Given the description of an element on the screen output the (x, y) to click on. 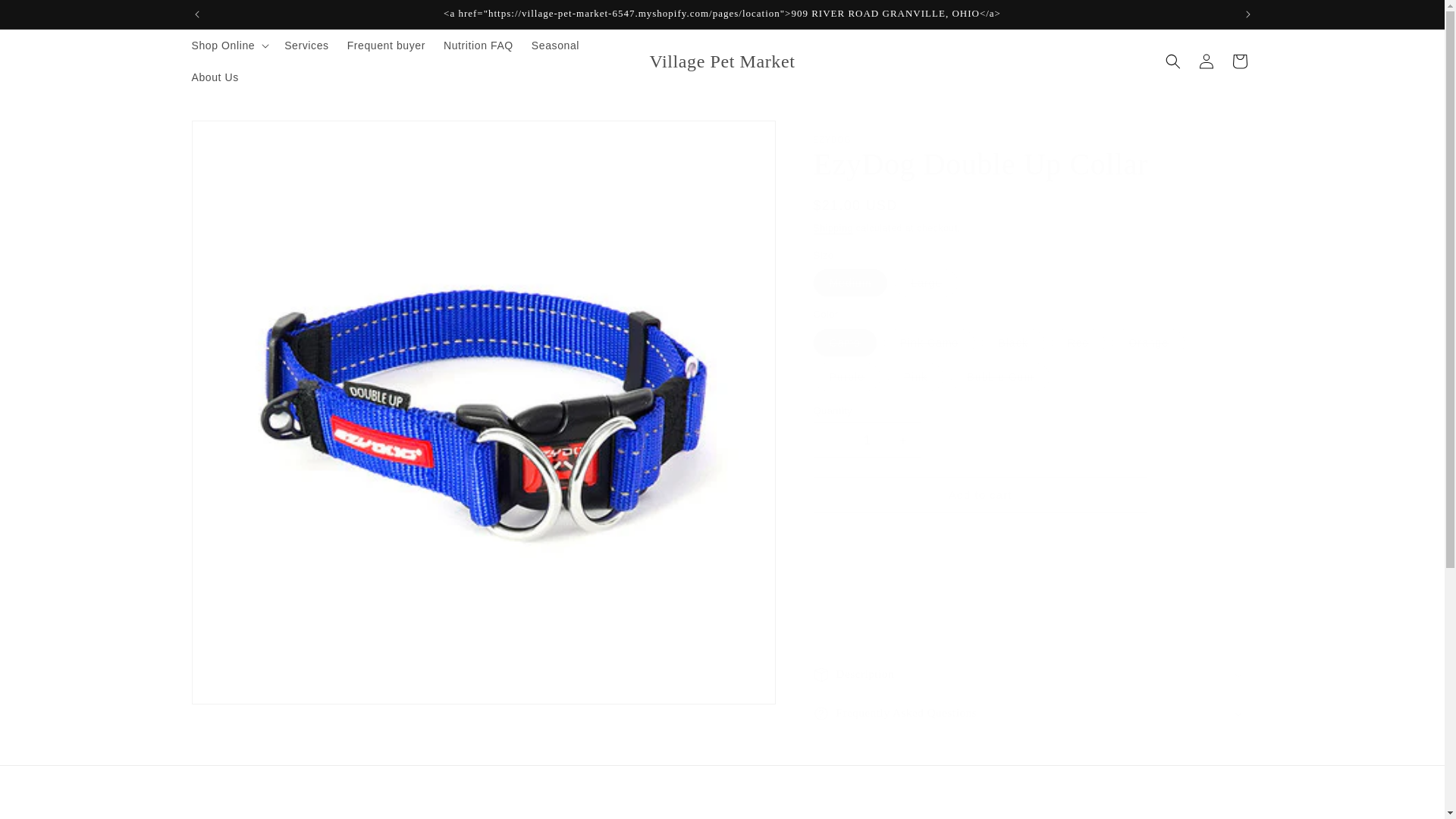
Skip to content (45, 17)
1 (866, 439)
